Given the description of an element on the screen output the (x, y) to click on. 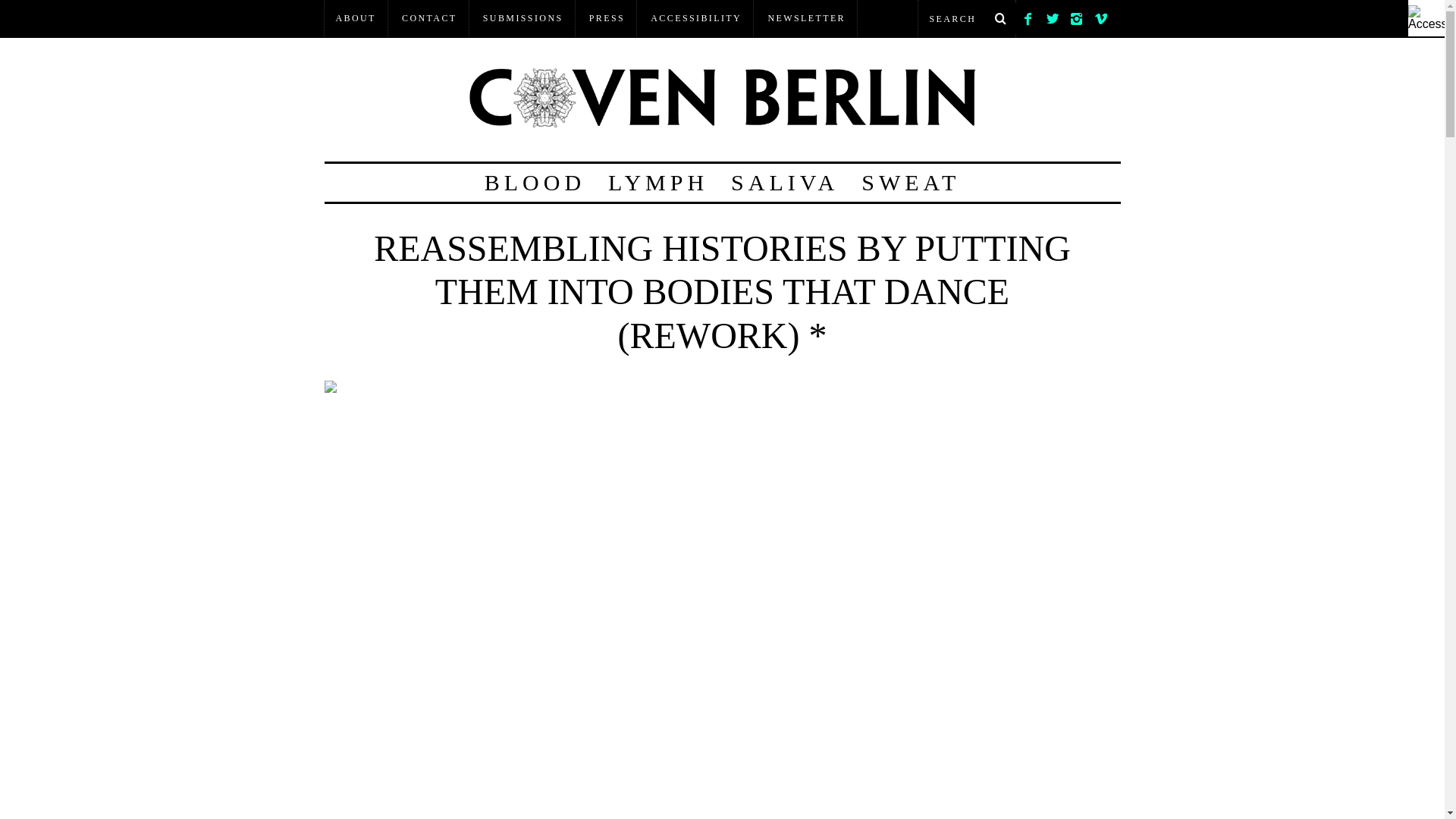
SUBMISSIONS (523, 18)
CONTACT (429, 18)
Search (966, 18)
NEWSLETTER (806, 18)
PRESS (607, 18)
BLOOD (534, 182)
ACCESSIBILITY (695, 18)
ABOUT (355, 18)
LYMPH (657, 182)
SALIVA (784, 182)
